Given the description of an element on the screen output the (x, y) to click on. 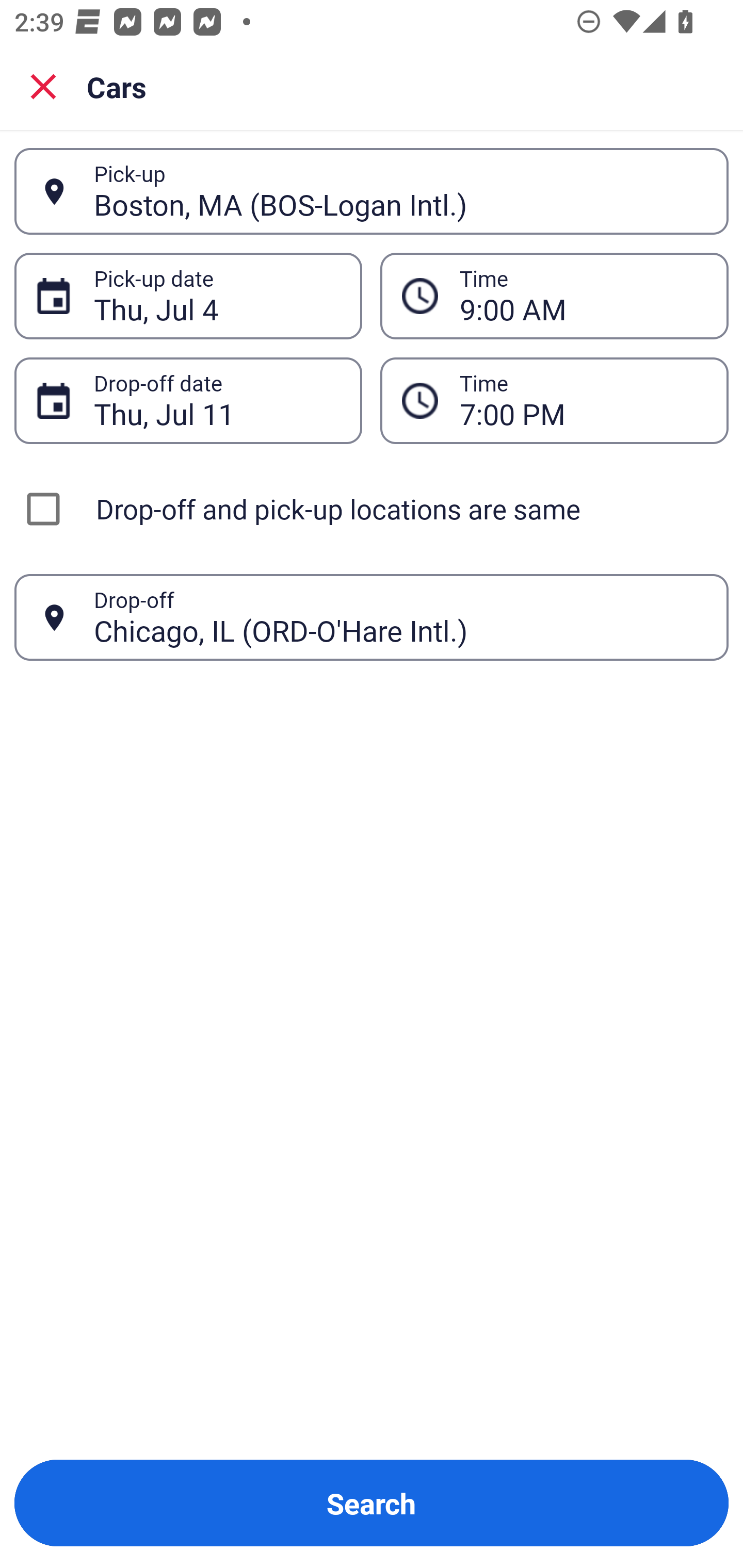
Close search screen (43, 86)
Boston, MA (BOS-Logan Intl.) Pick-up (371, 191)
Boston, MA (BOS-Logan Intl.) (399, 191)
Thu, Jul 4 Pick-up date (188, 295)
9:00 AM (554, 295)
Thu, Jul 4 (216, 296)
9:00 AM (582, 296)
Thu, Jul 11 Drop-off date (188, 400)
7:00 PM (554, 400)
Thu, Jul 11 (216, 400)
7:00 PM (582, 400)
Drop-off and pick-up locations are same (371, 508)
Chicago, IL (ORD-O'Hare Intl.) Drop-off (371, 616)
Chicago, IL (ORD-O'Hare Intl.) (399, 616)
Search Button Search (371, 1502)
